Given the description of an element on the screen output the (x, y) to click on. 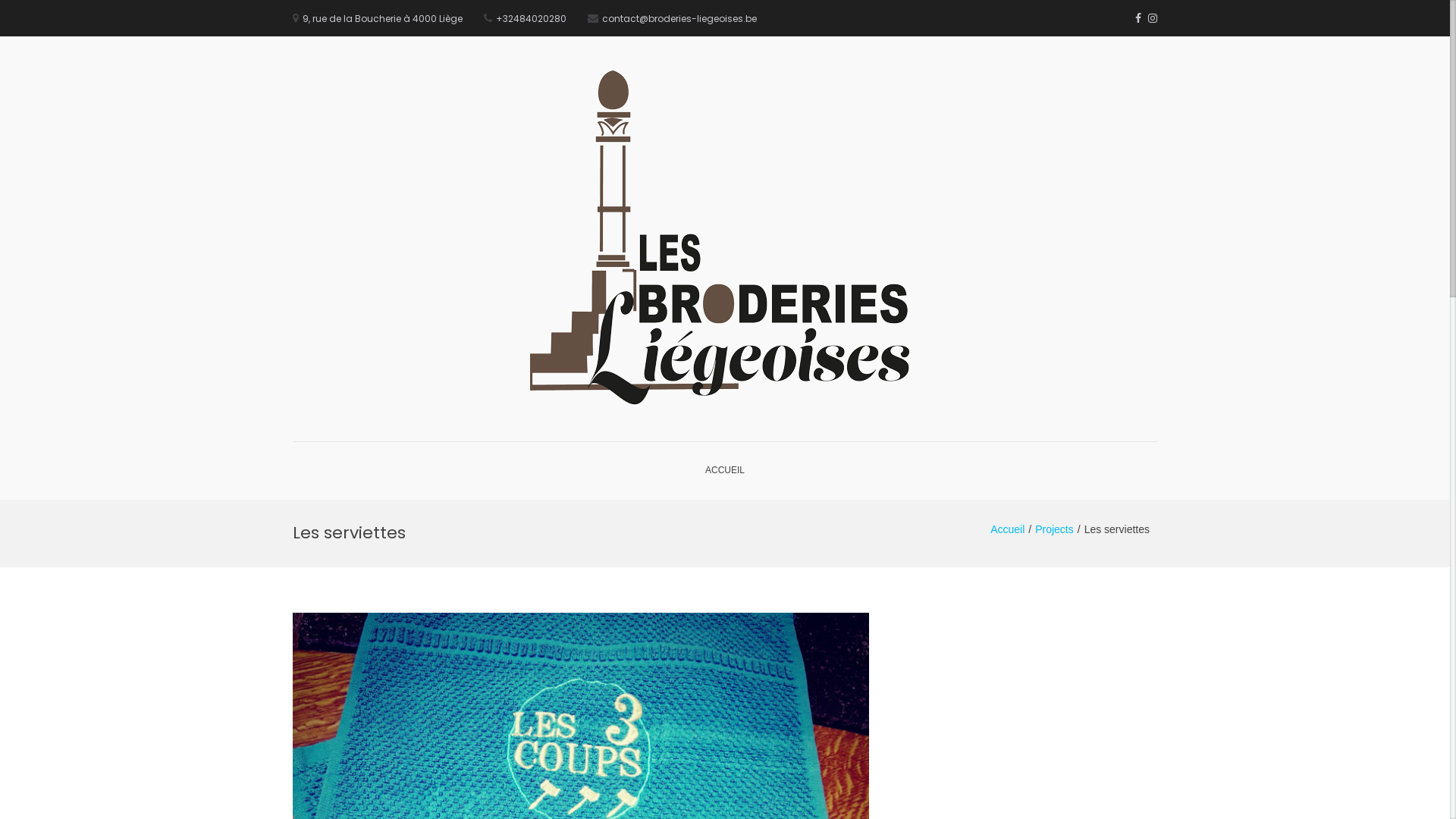
ACCUEIL Element type: text (724, 470)
Facebook Element type: text (1138, 18)
Accueil Element type: text (1007, 529)
Instagram Element type: text (1152, 18)
Projects Element type: text (1054, 529)
